Given the description of an element on the screen output the (x, y) to click on. 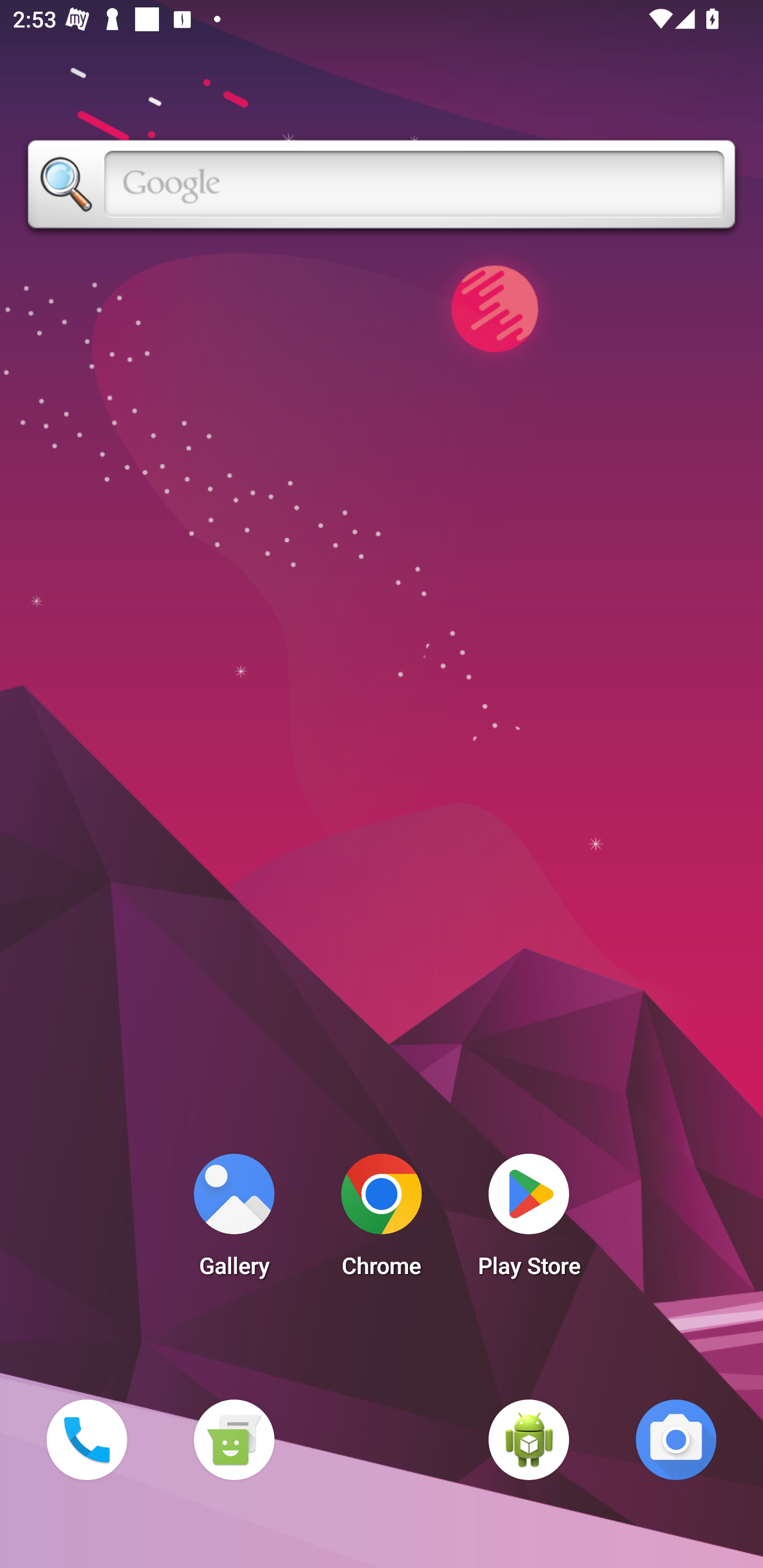
Gallery (233, 1220)
Chrome (381, 1220)
Play Store (528, 1220)
Phone (86, 1439)
Messaging (233, 1439)
WebView Browser Tester (528, 1439)
Camera (676, 1439)
